Given the description of an element on the screen output the (x, y) to click on. 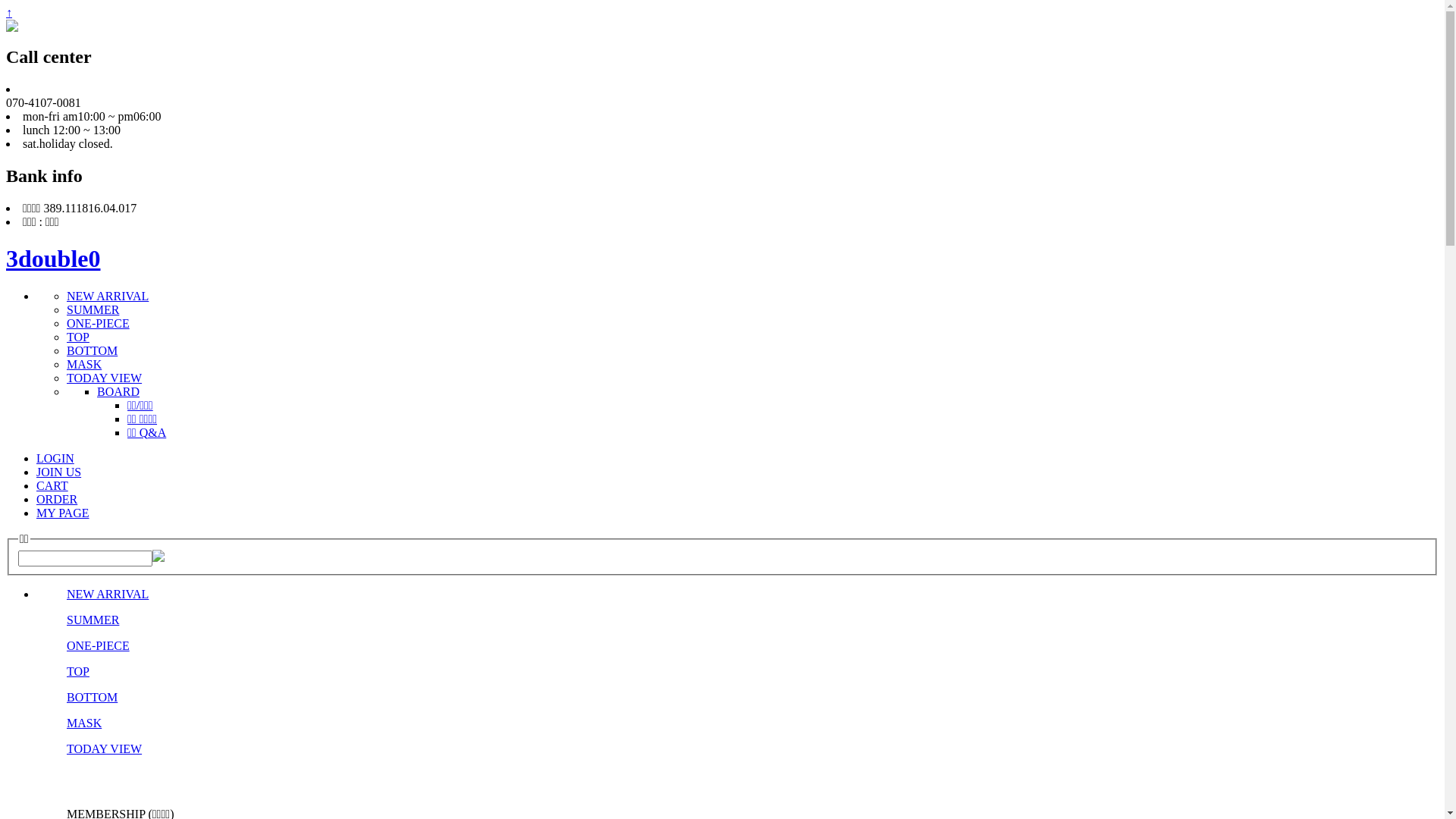
BOTTOM Element type: text (91, 350)
TOP Element type: text (77, 336)
SUMMER Element type: text (92, 309)
MY PAGE Element type: text (62, 512)
SUMMER Element type: text (92, 619)
CART Element type: text (52, 485)
BOTTOM Element type: text (91, 696)
JOIN US Element type: text (58, 471)
TODAY VIEW Element type: text (103, 377)
TODAY VIEW Element type: text (103, 748)
TOP Element type: text (77, 671)
BOARD Element type: text (118, 391)
ONE-PIECE Element type: text (97, 322)
ONE-PIECE Element type: text (97, 645)
ORDER Element type: text (56, 498)
NEW ARRIVAL Element type: text (107, 593)
NEW ARRIVAL Element type: text (107, 295)
3double0 Element type: text (53, 258)
MASK Element type: text (83, 363)
LOGIN Element type: text (55, 457)
MASK Element type: text (83, 722)
